Given the description of an element on the screen output the (x, y) to click on. 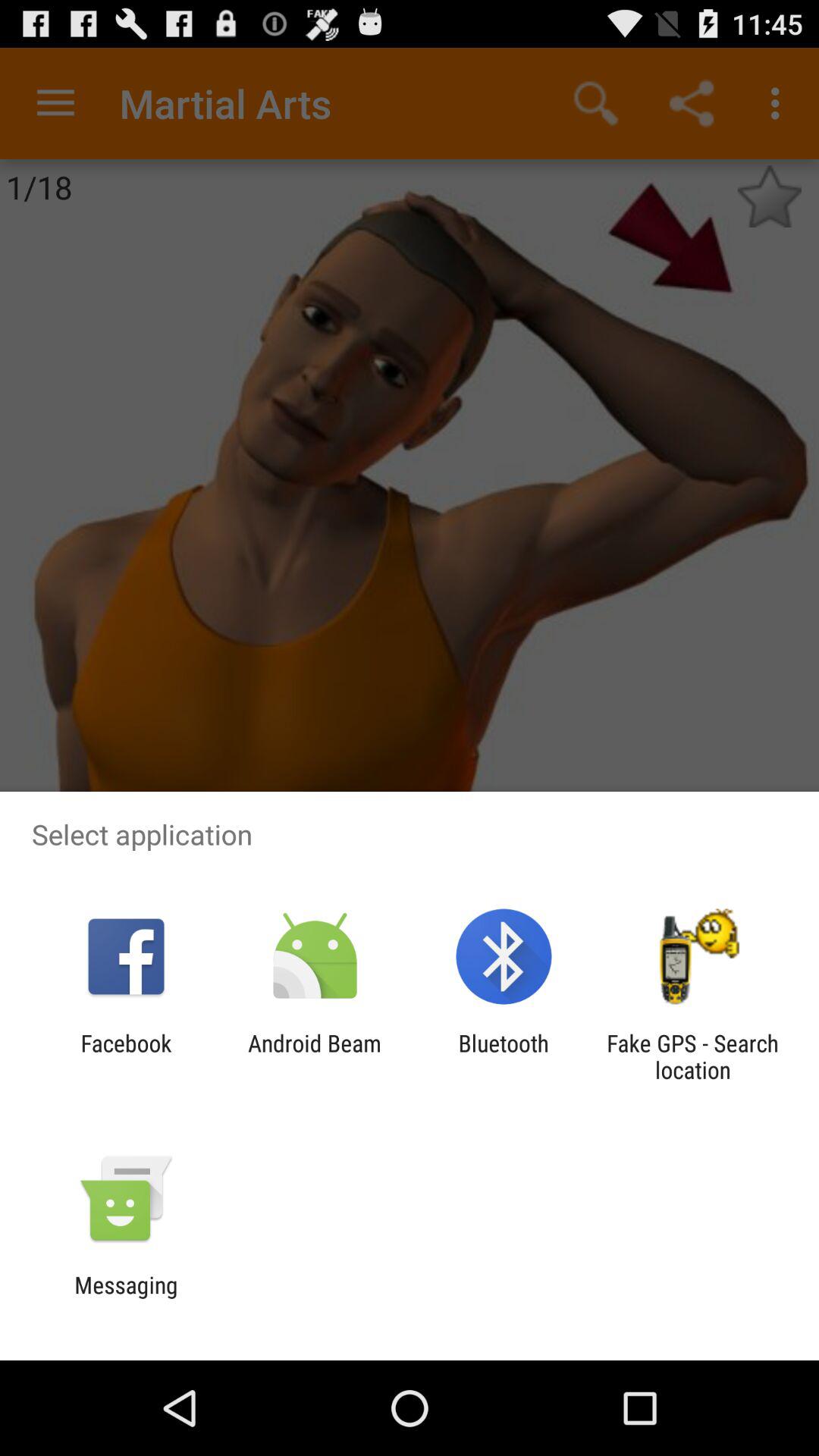
swipe to bluetooth item (503, 1056)
